Given the description of an element on the screen output the (x, y) to click on. 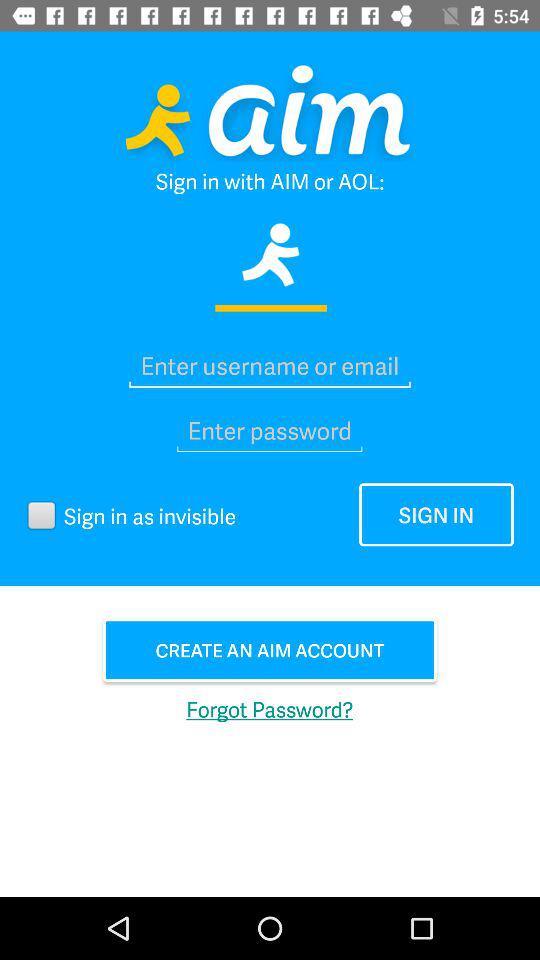
scroll to forgot password? (269, 708)
